Given the description of an element on the screen output the (x, y) to click on. 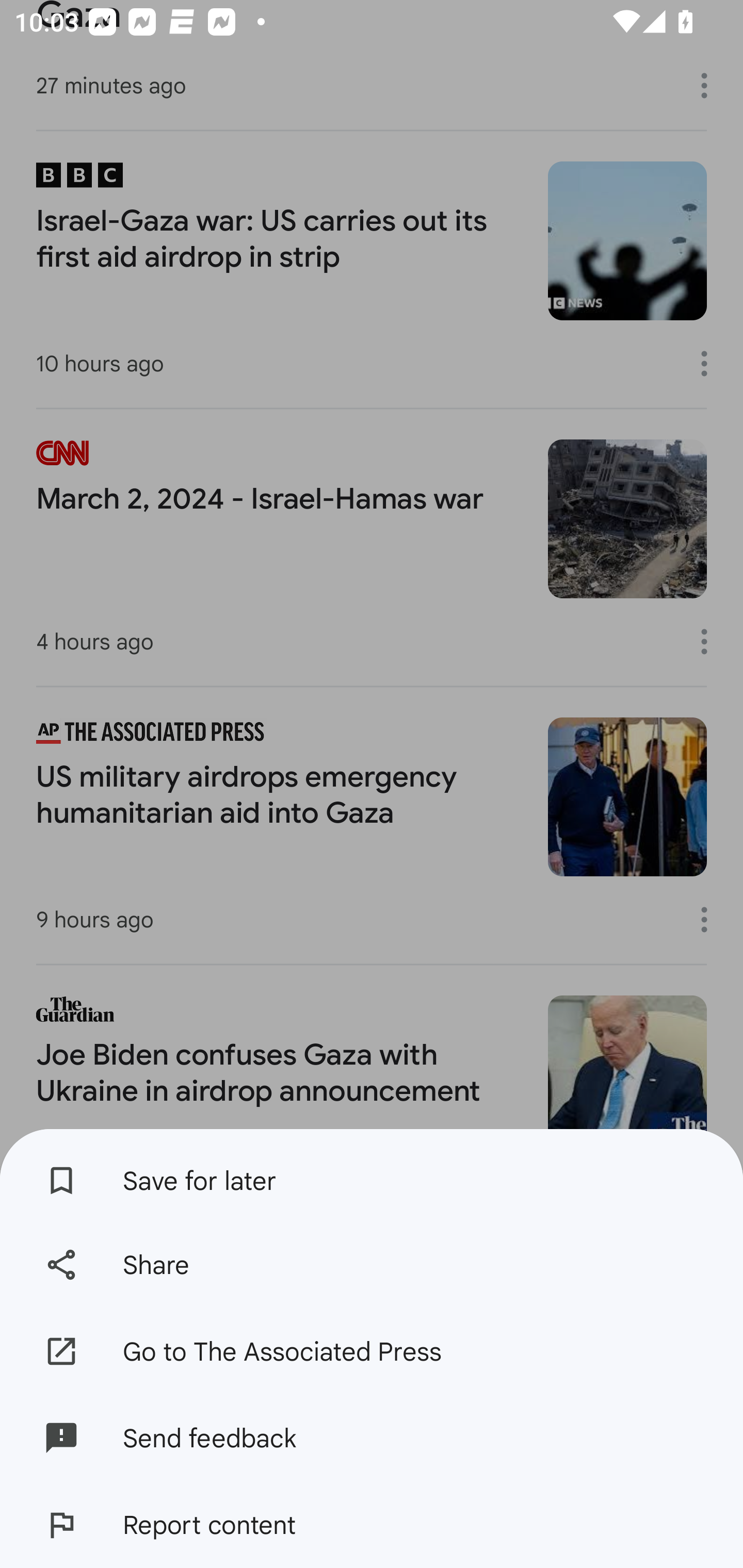
Save for later (371, 1174)
Share (371, 1264)
Go to The Associated Press (371, 1350)
Send feedback (371, 1437)
Report content (371, 1524)
